Given the description of an element on the screen output the (x, y) to click on. 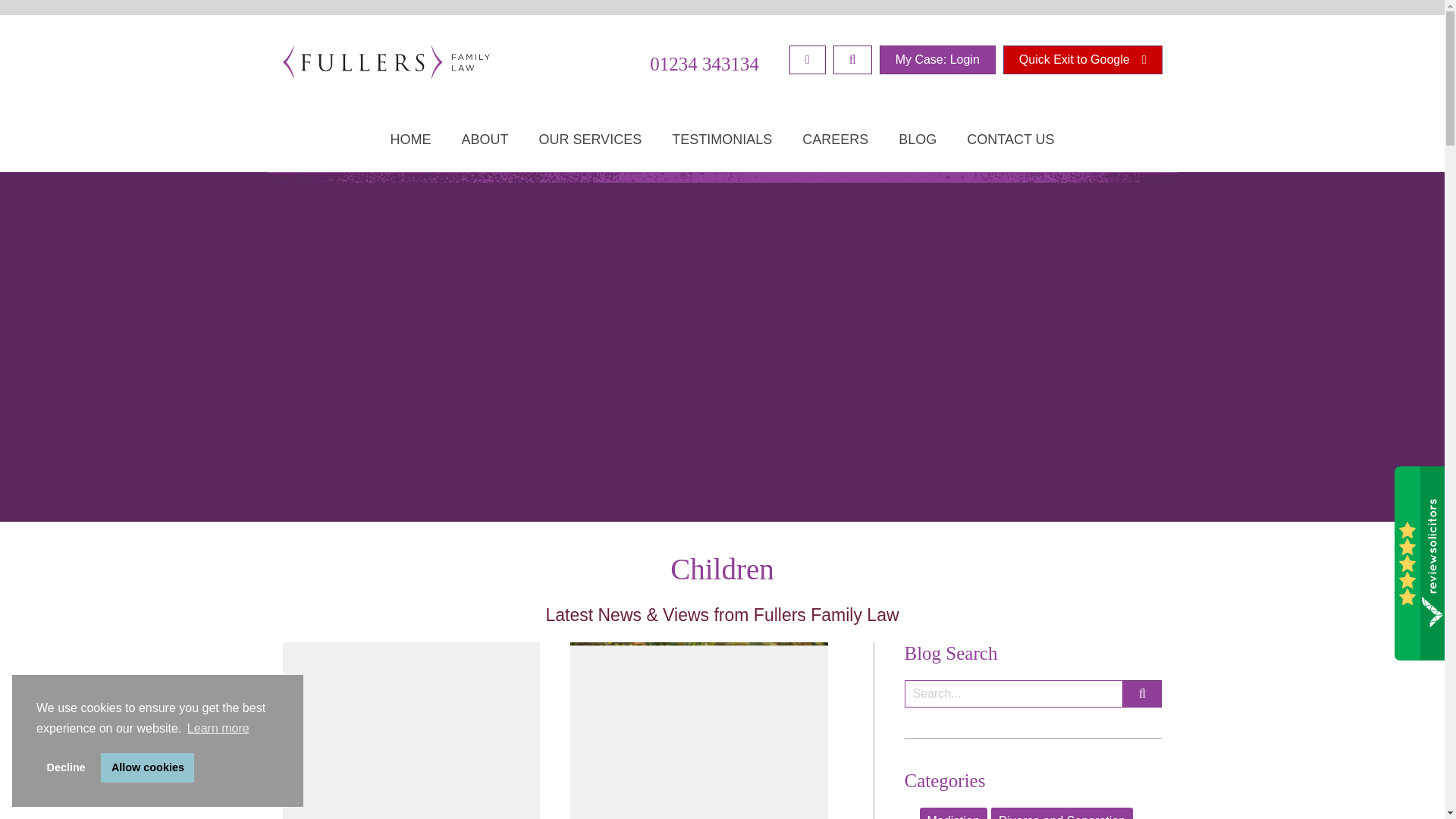
Learn more (217, 728)
Allow cookies (146, 767)
ABOUT (483, 147)
Quick Exit to Google (1082, 59)
01234 343134 (704, 64)
My Case: Login (937, 59)
HOME (409, 147)
Decline (66, 767)
OUR SERVICES (589, 147)
